Given the description of an element on the screen output the (x, y) to click on. 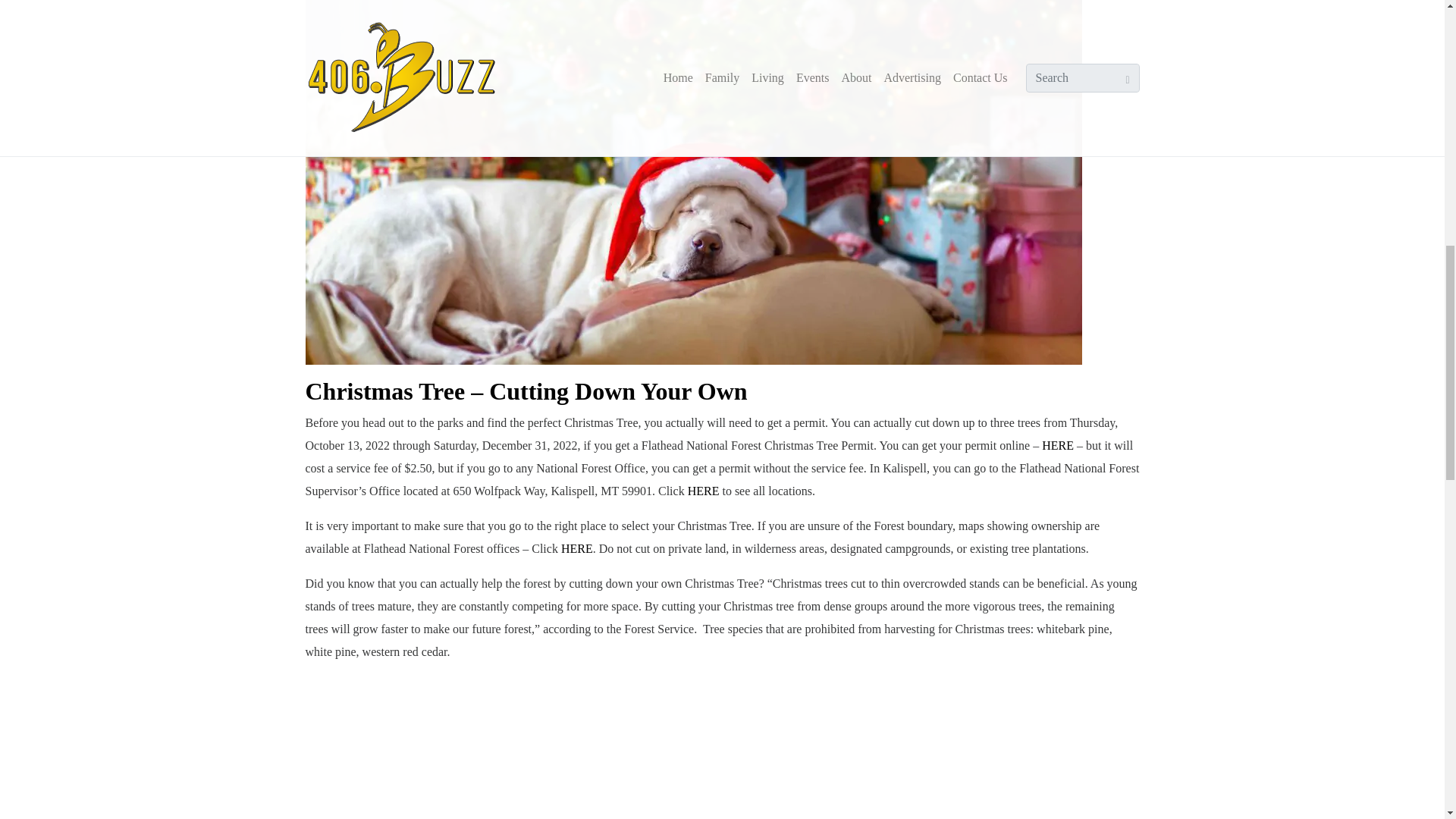
HERE (576, 548)
HERE (1058, 445)
HERE (703, 490)
